Given the description of an element on the screen output the (x, y) to click on. 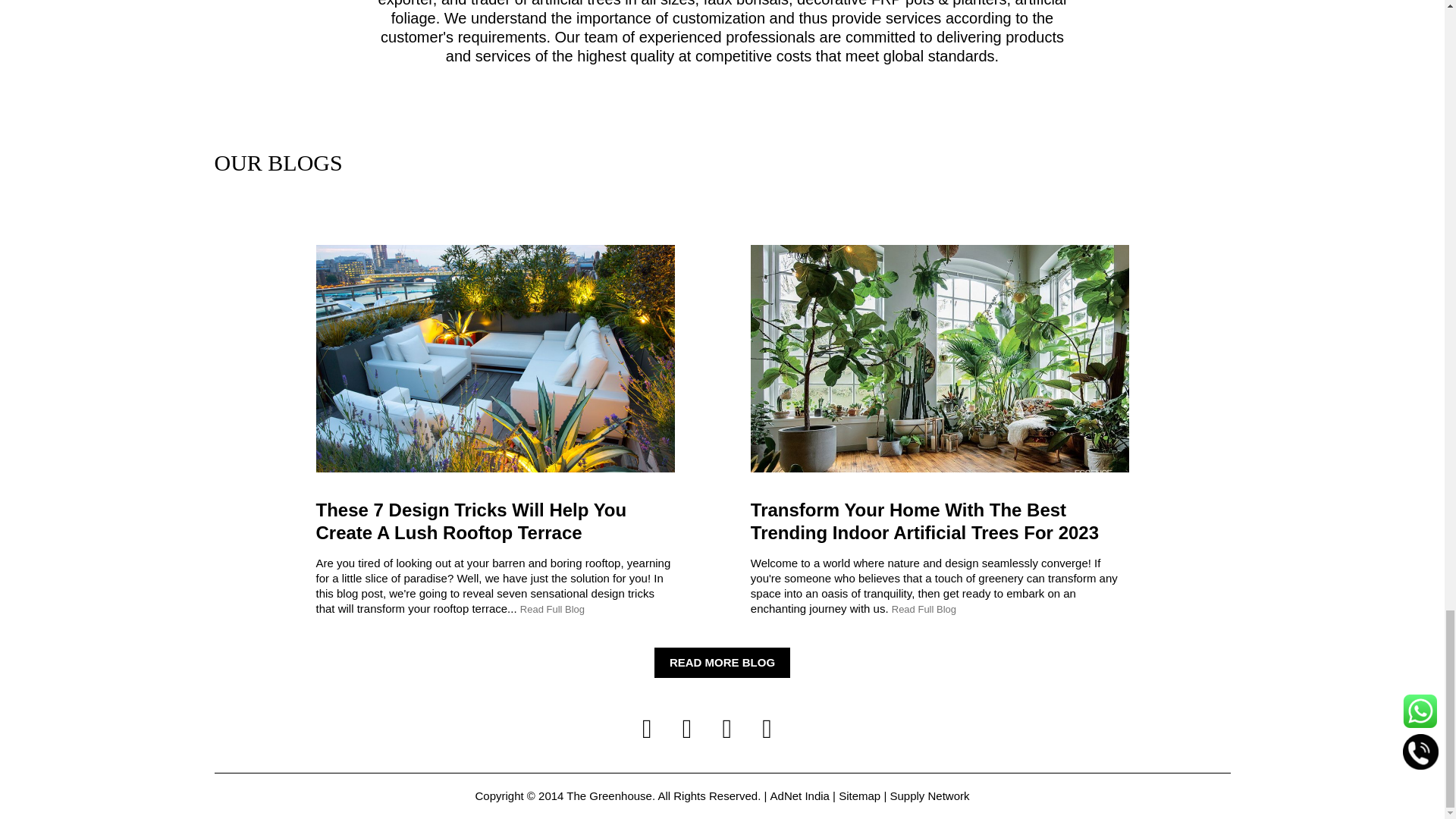
Supply Network (929, 795)
READ MORE BLOG (721, 662)
Read Full Blog (552, 609)
AdNet India (799, 795)
Read Full Blog (923, 609)
Sitemap (859, 795)
